Given the description of an element on the screen output the (x, y) to click on. 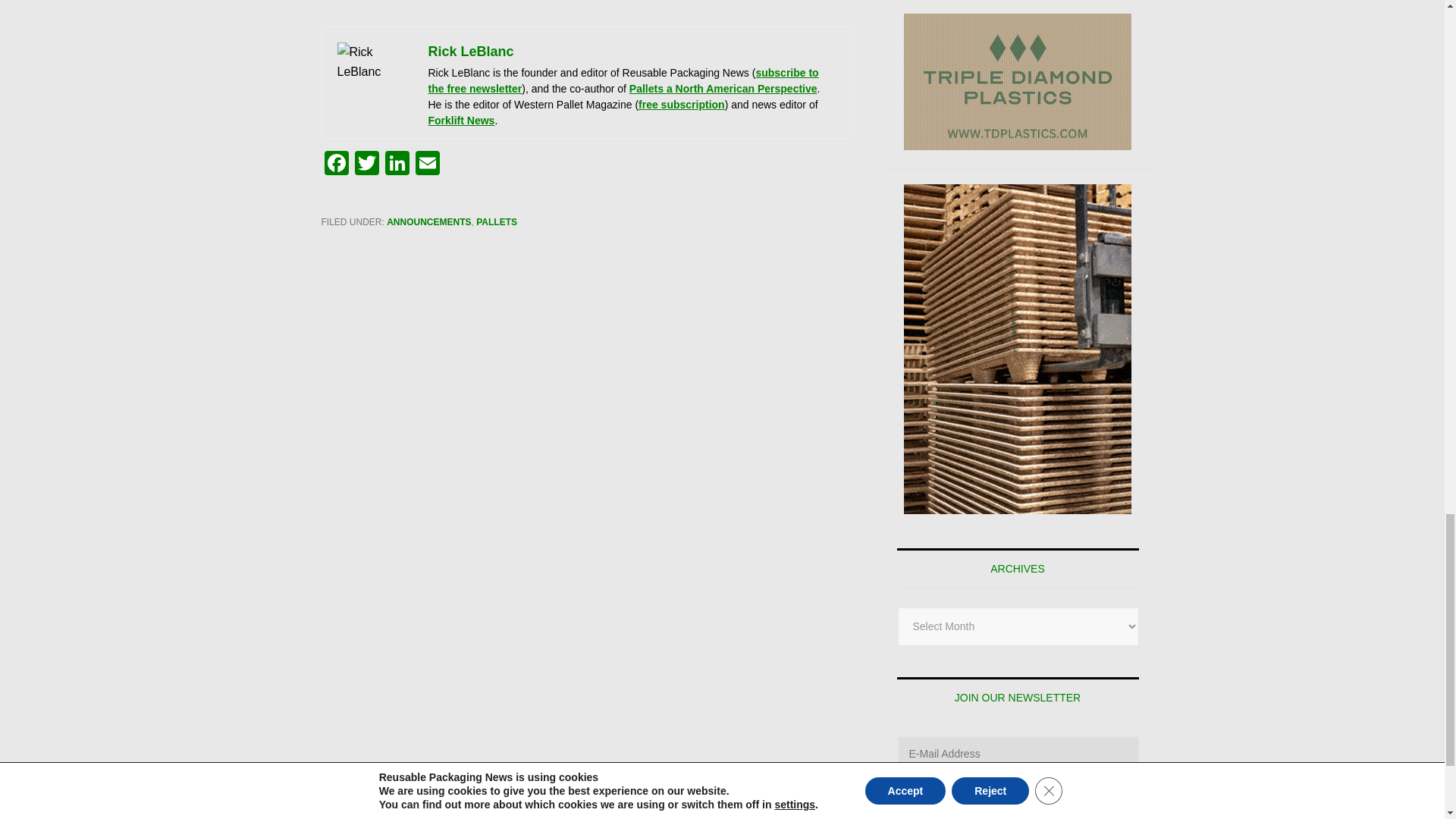
Rick LeBlanc (470, 51)
Email (427, 164)
Pallets a North American Perspective (722, 88)
Twitter (366, 164)
subscribe to the free newsletter (623, 80)
LinkedIn (396, 164)
PalletTrader Launches Inaugural Pallet Market Survey 2 (374, 79)
Triple Diamond Plastics (1017, 81)
Facebook (336, 164)
Facebook (336, 164)
SUBMIT (1017, 801)
free subscription (682, 104)
Forklift News (461, 120)
